Given the description of an element on the screen output the (x, y) to click on. 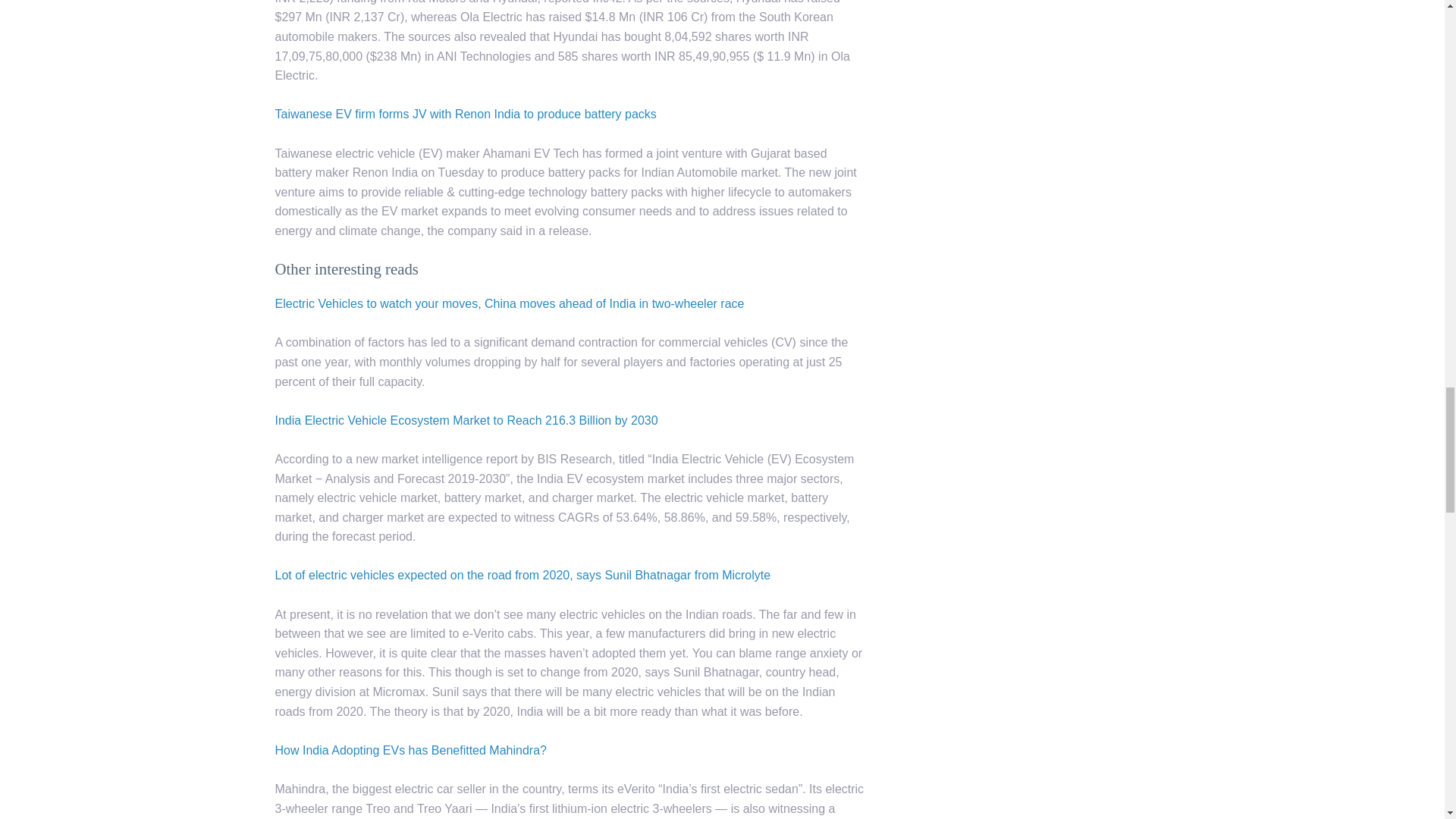
How India Adopting EVs has Benefitted Mahindra? (410, 749)
